Given the description of an element on the screen output the (x, y) to click on. 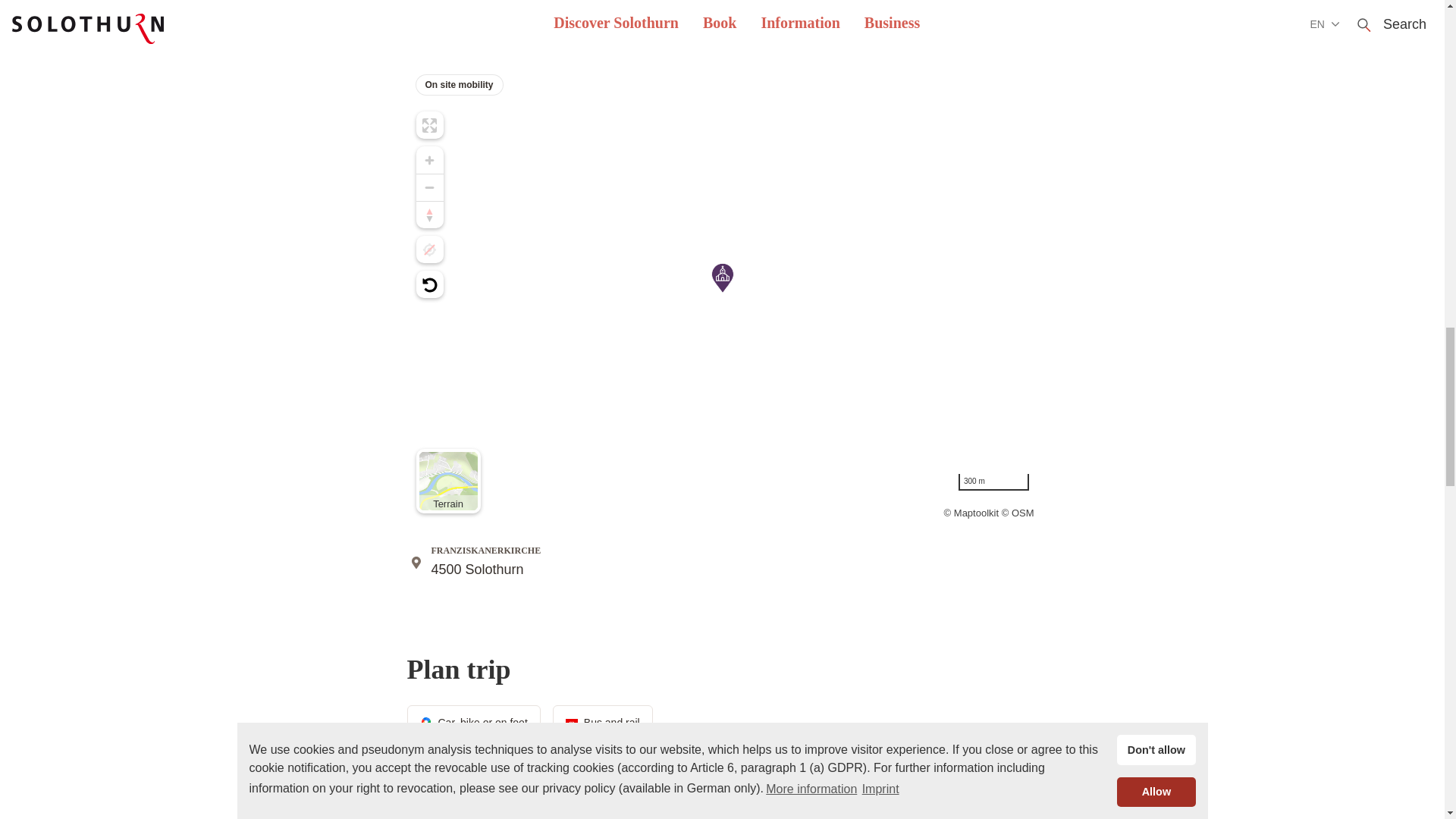
Zoom out (428, 186)
Find my location (428, 248)
On site mobility (721, 81)
Reset bearing to north (428, 214)
Enter fullscreen (428, 124)
Zoom in (428, 159)
Reset Map View (428, 284)
